Given the description of an element on the screen output the (x, y) to click on. 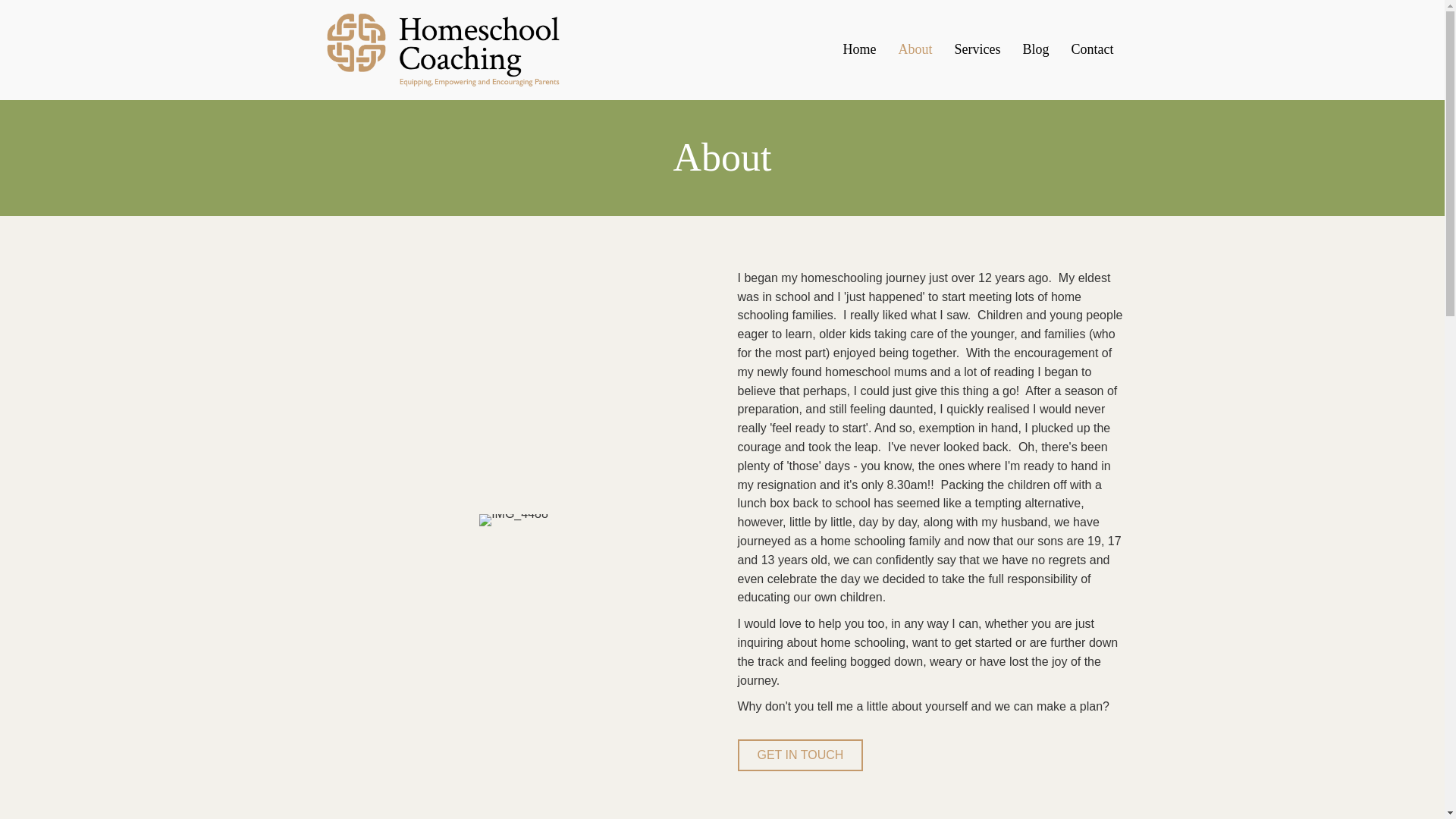
Contact (1091, 49)
Home (859, 49)
Blog (1035, 49)
GET IN TOUCH (799, 755)
About (914, 49)
SH-Logo-Primary (442, 49)
Services (976, 49)
